Given the description of an element on the screen output the (x, y) to click on. 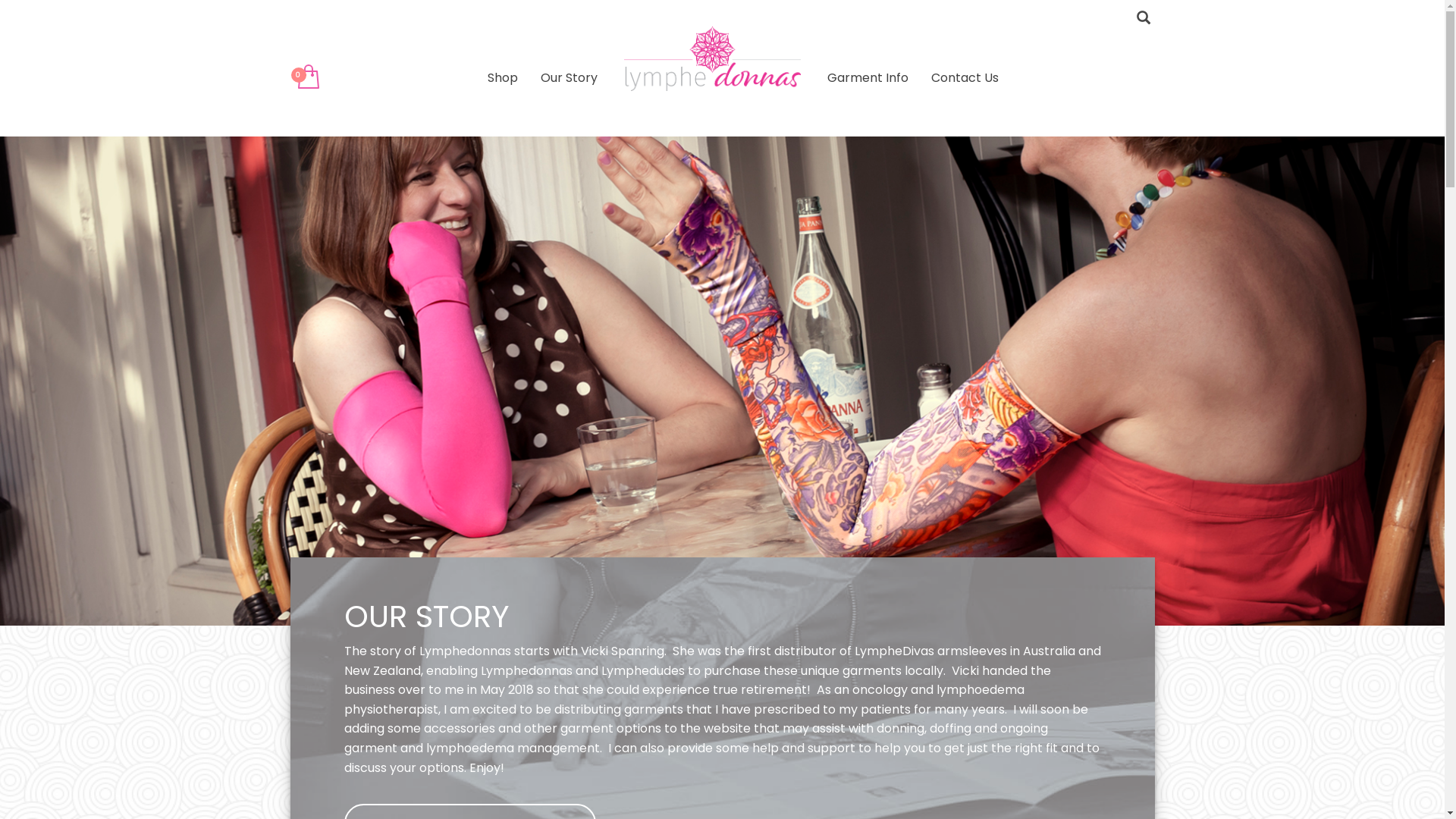
Shop Element type: text (502, 77)
Facebook Element type: hover (300, 18)
Our Story Element type: text (568, 77)
Garment Info Element type: text (867, 77)
Contact Us Element type: text (964, 77)
View your shopping cart Element type: hover (306, 77)
